Given the description of an element on the screen output the (x, y) to click on. 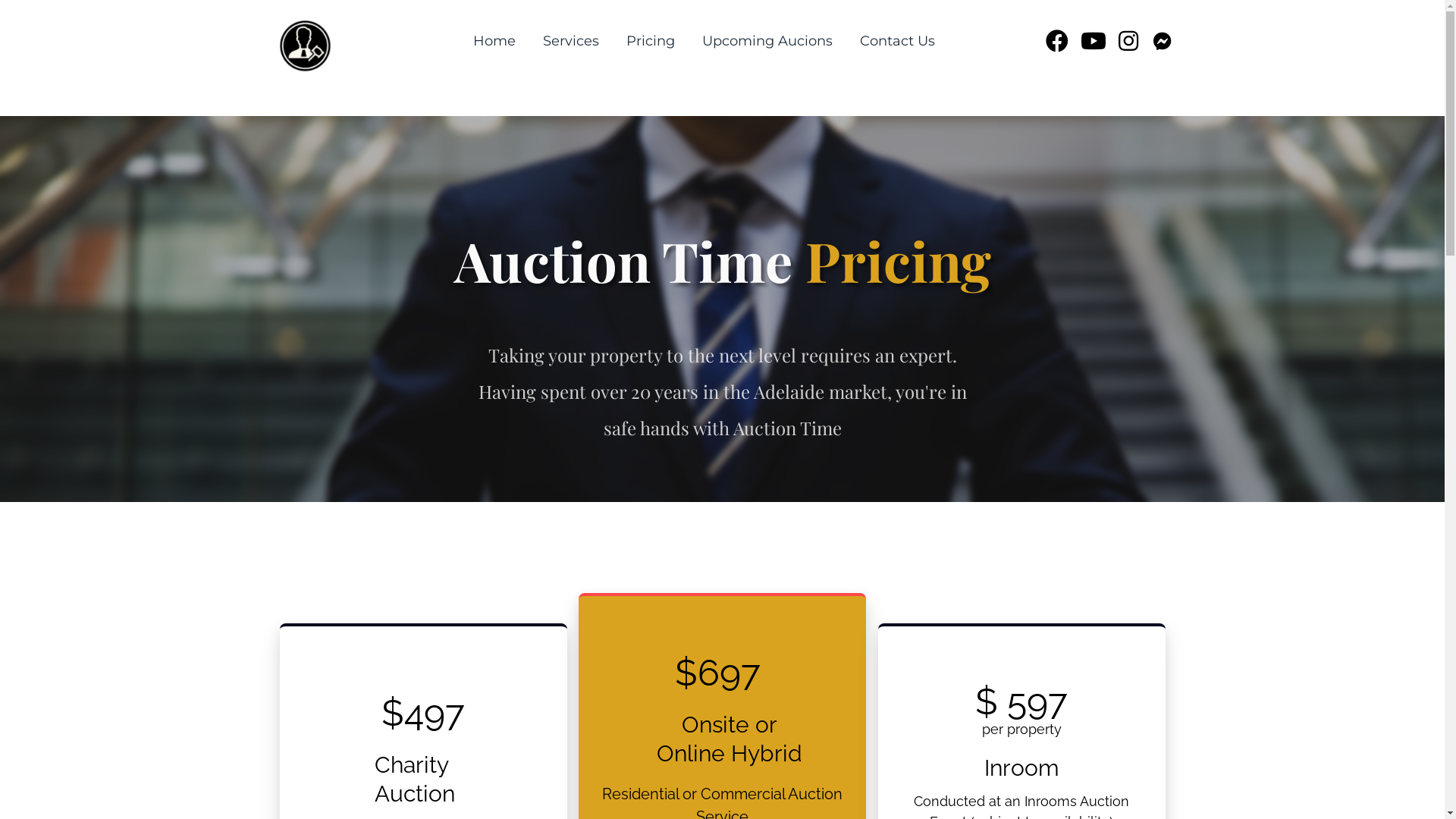
Pricing Element type: text (650, 41)
Services Element type: text (570, 41)
Upcoming Aucions Element type: text (767, 41)
Contact Us Element type: text (897, 41)
Home Element type: text (494, 41)
